Given the description of an element on the screen output the (x, y) to click on. 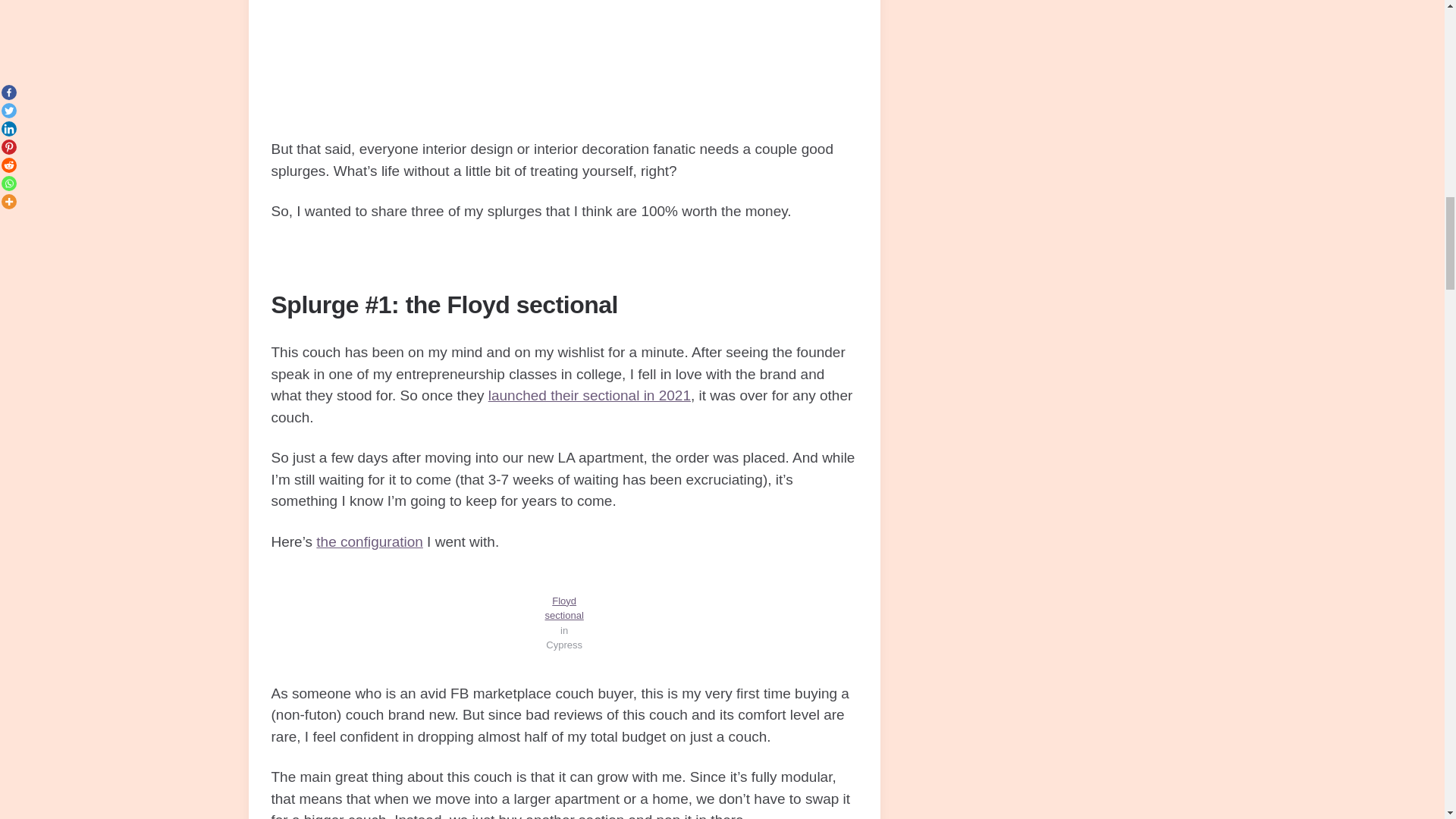
Advertisement (563, 69)
